Given the description of an element on the screen output the (x, y) to click on. 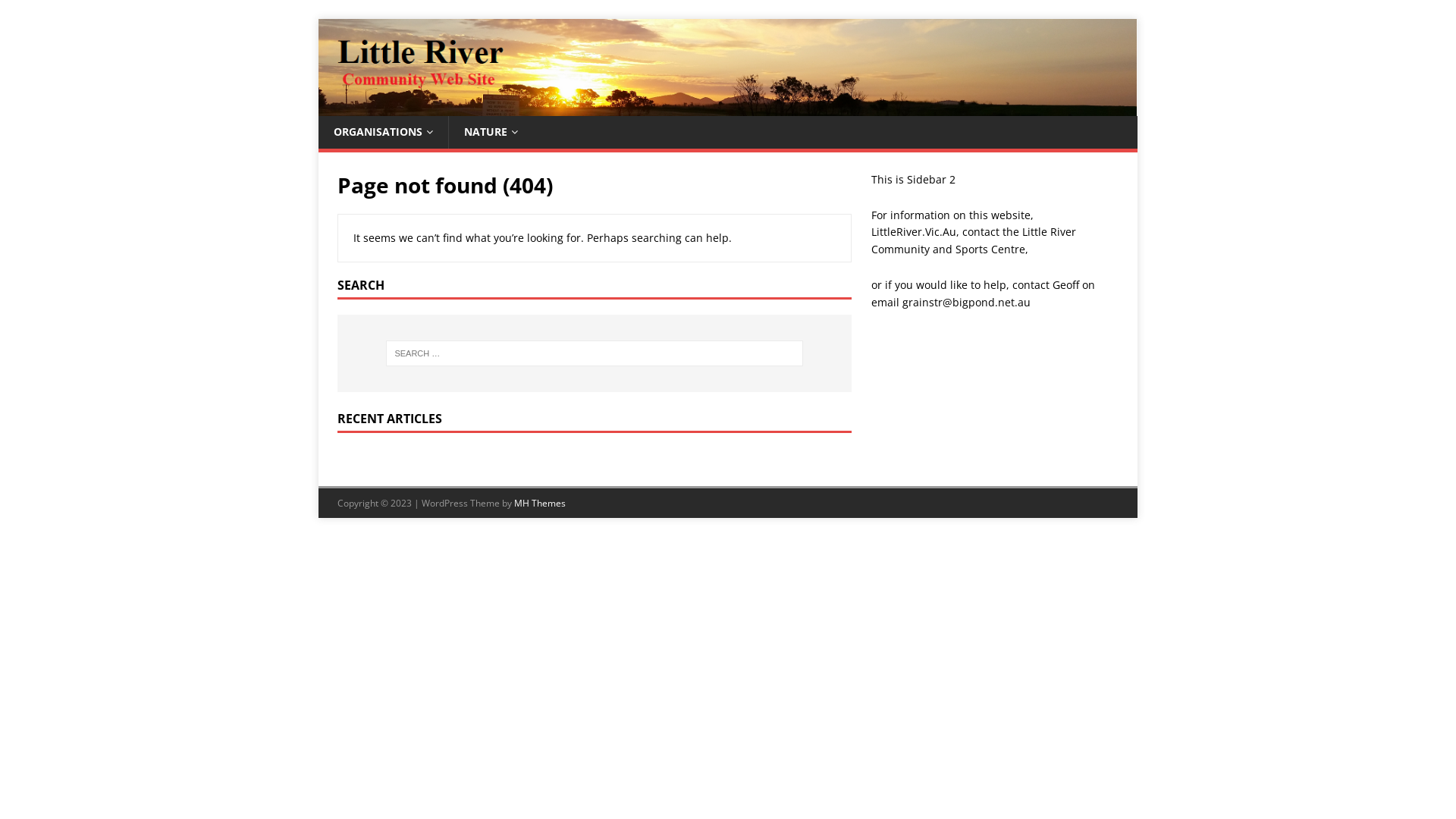
Search Element type: text (56, 11)
MH Themes Element type: text (539, 502)
ORGANISATIONS Element type: text (383, 131)
NATURE Element type: text (490, 131)
